Given the description of an element on the screen output the (x, y) to click on. 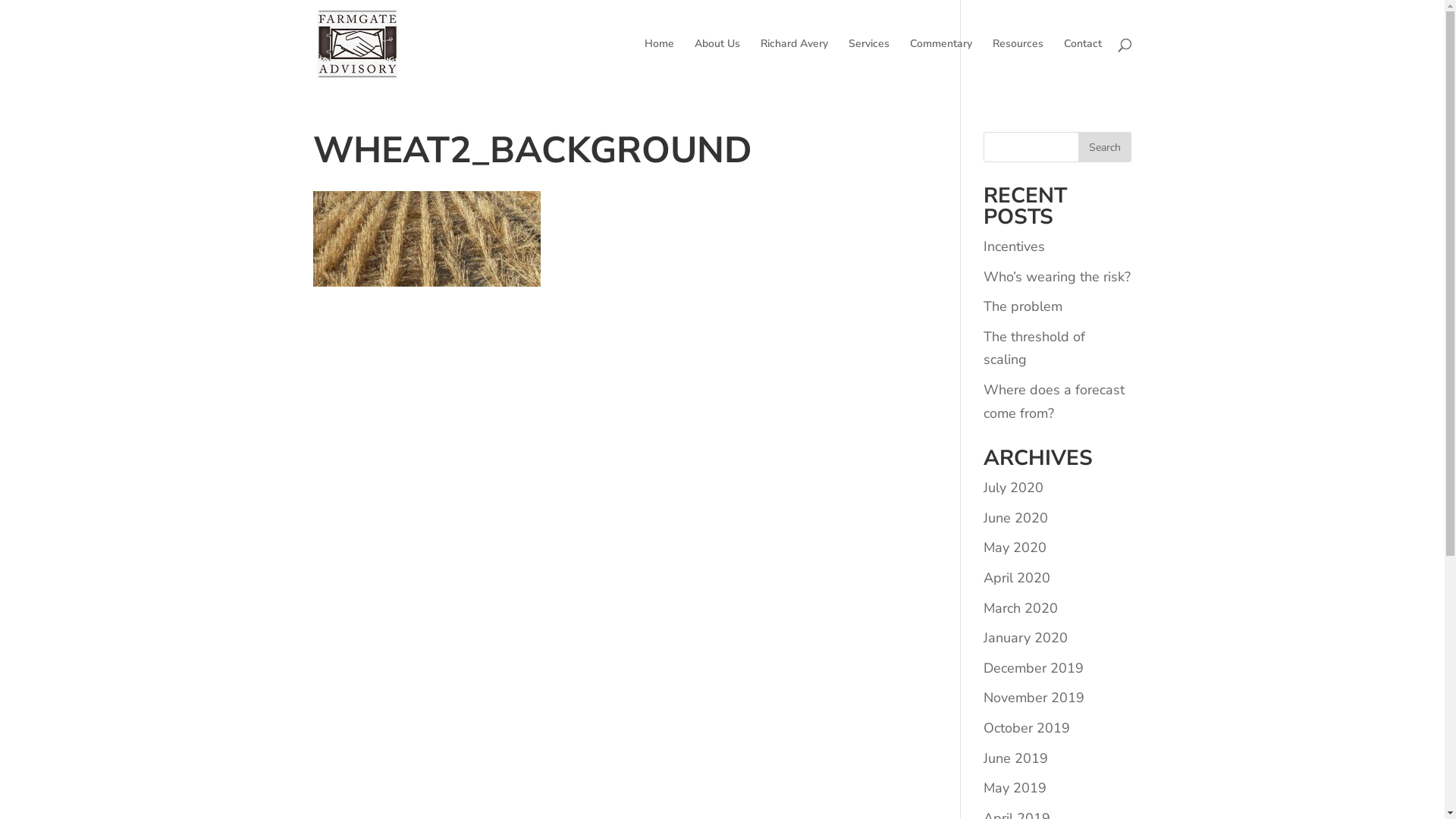
Commentary Element type: text (941, 62)
Services Element type: text (867, 62)
Resources Element type: text (1016, 62)
July 2020 Element type: text (1013, 487)
October 2019 Element type: text (1026, 727)
March 2020 Element type: text (1020, 608)
Contact Element type: text (1082, 62)
June 2019 Element type: text (1015, 758)
May 2020 Element type: text (1014, 547)
May 2019 Element type: text (1014, 787)
Incentives Element type: text (1013, 246)
November 2019 Element type: text (1033, 697)
The threshold of scaling Element type: text (1034, 348)
January 2020 Element type: text (1025, 637)
June 2020 Element type: text (1015, 517)
About Us Element type: text (717, 62)
Search Element type: text (1104, 146)
Home Element type: text (659, 62)
December 2019 Element type: text (1033, 667)
April 2020 Element type: text (1016, 577)
Where does a forecast come from? Element type: text (1053, 401)
Richard Avery Element type: text (793, 62)
The problem Element type: text (1022, 306)
